Given the description of an element on the screen output the (x, y) to click on. 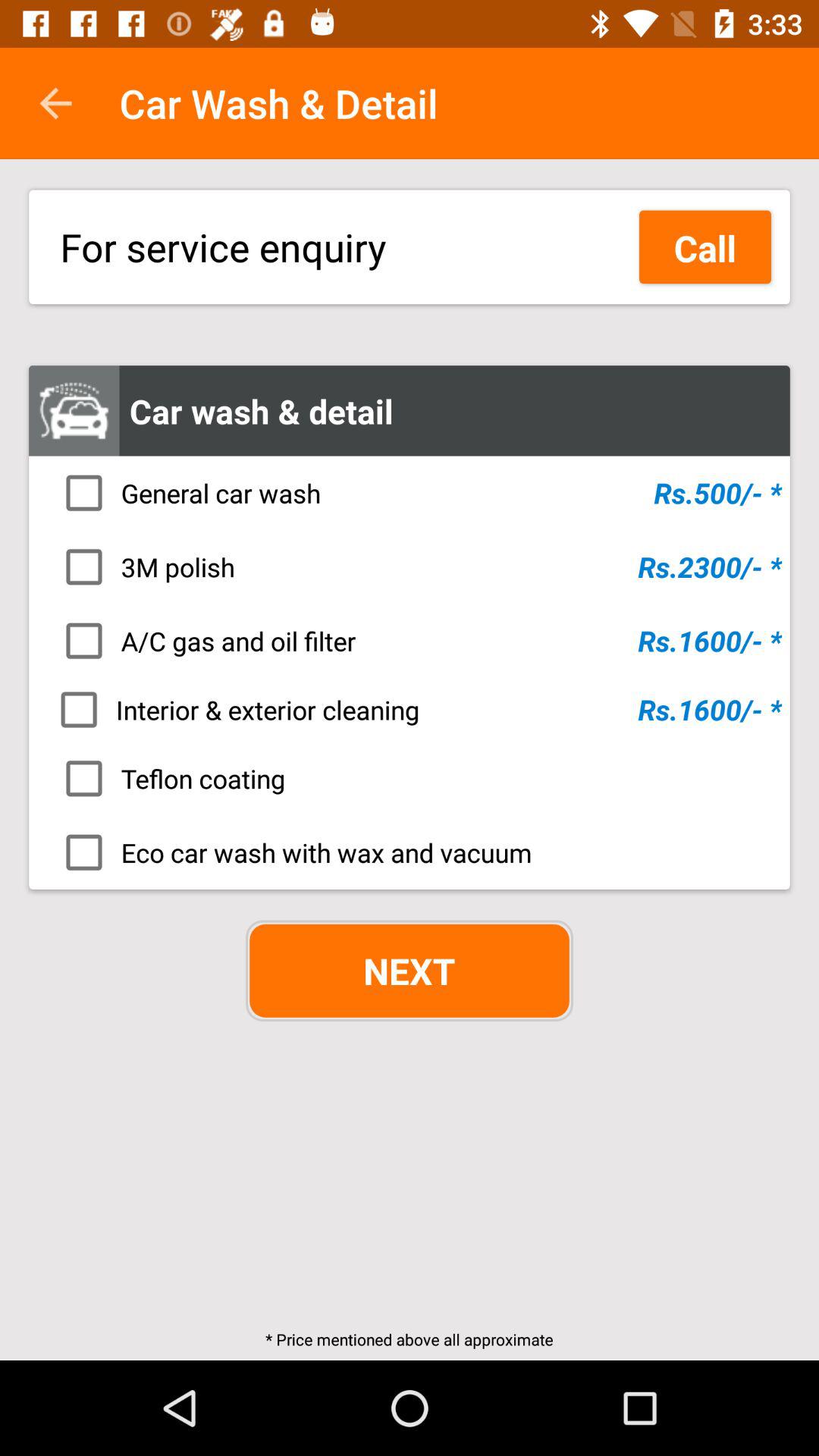
tap the icon above for service enquiry (55, 103)
